Given the description of an element on the screen output the (x, y) to click on. 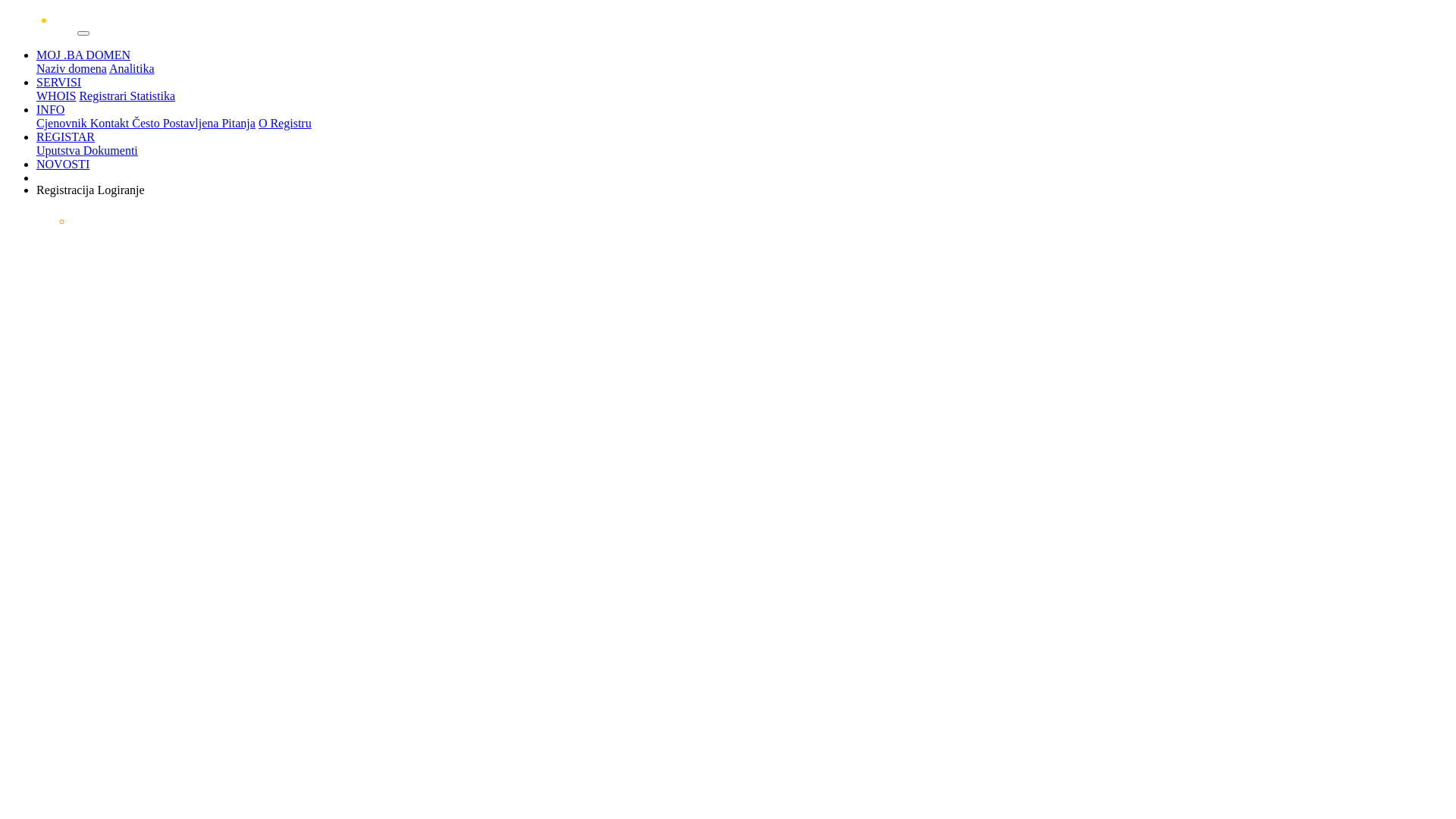
Logiranje Element type: text (120, 189)
Analitika Element type: text (131, 68)
Statistika Element type: text (152, 95)
REGISTAR Element type: text (65, 136)
Naziv domena Element type: text (71, 68)
Registracija Element type: text (66, 189)
WHOIS Element type: text (55, 95)
MOJ .BA DOMEN Element type: text (83, 54)
O Registru Element type: text (284, 122)
Dokumenti Element type: text (110, 150)
SERVISI Element type: text (58, 81)
Kontakt Element type: text (111, 122)
Uputstva Element type: text (59, 150)
INFO Element type: text (50, 109)
NOVOSTI Element type: text (62, 163)
Cjenovnik Element type: text (63, 122)
Registrari Element type: text (103, 95)
